Given the description of an element on the screen output the (x, y) to click on. 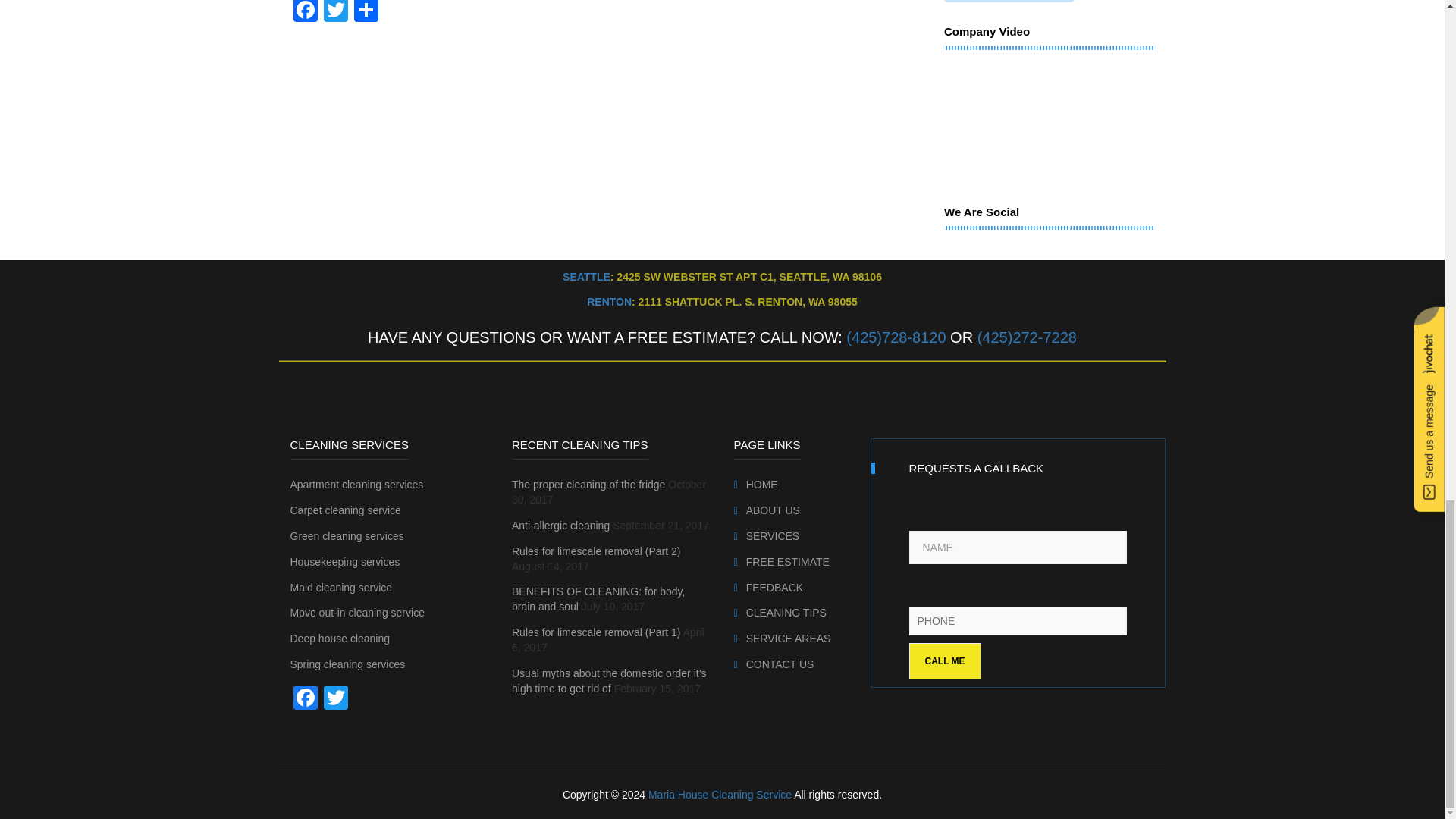
Call me (943, 660)
Facebook (304, 12)
Twitter (335, 12)
